Given the description of an element on the screen output the (x, y) to click on. 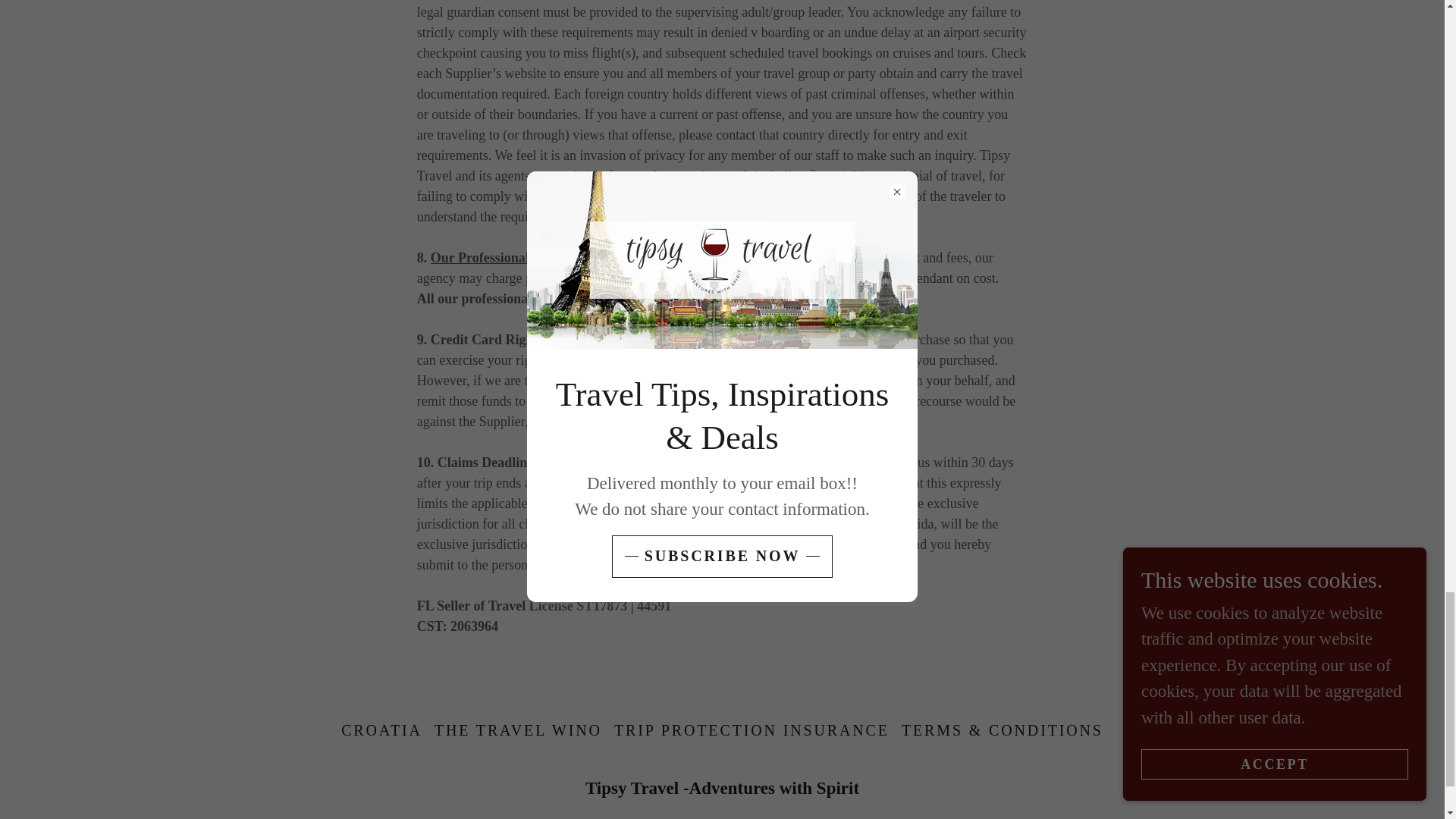
THE TRAVEL WINO (518, 730)
CROATIA (381, 730)
TRIP PROTECTION INSURANCE (751, 730)
